Given the description of an element on the screen output the (x, y) to click on. 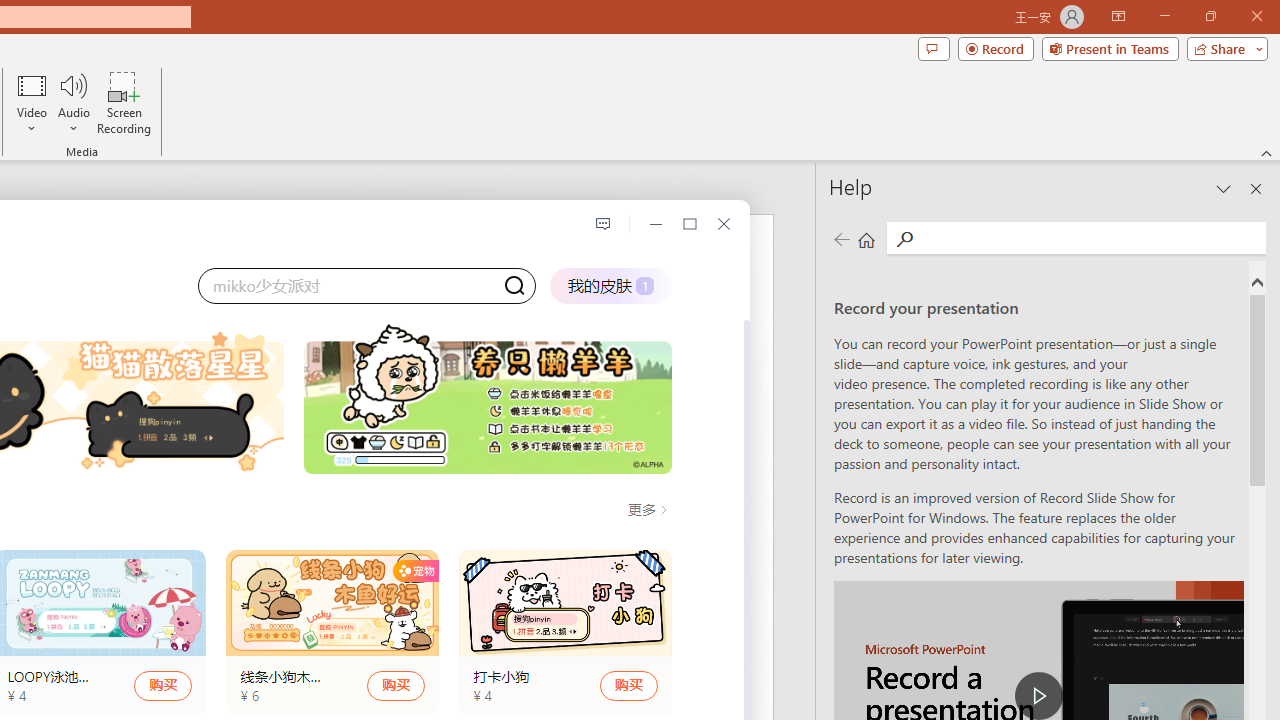
Video (31, 102)
play Record a Presentation (1038, 695)
Previous page (841, 238)
Screen Recording... (123, 102)
